Given the description of an element on the screen output the (x, y) to click on. 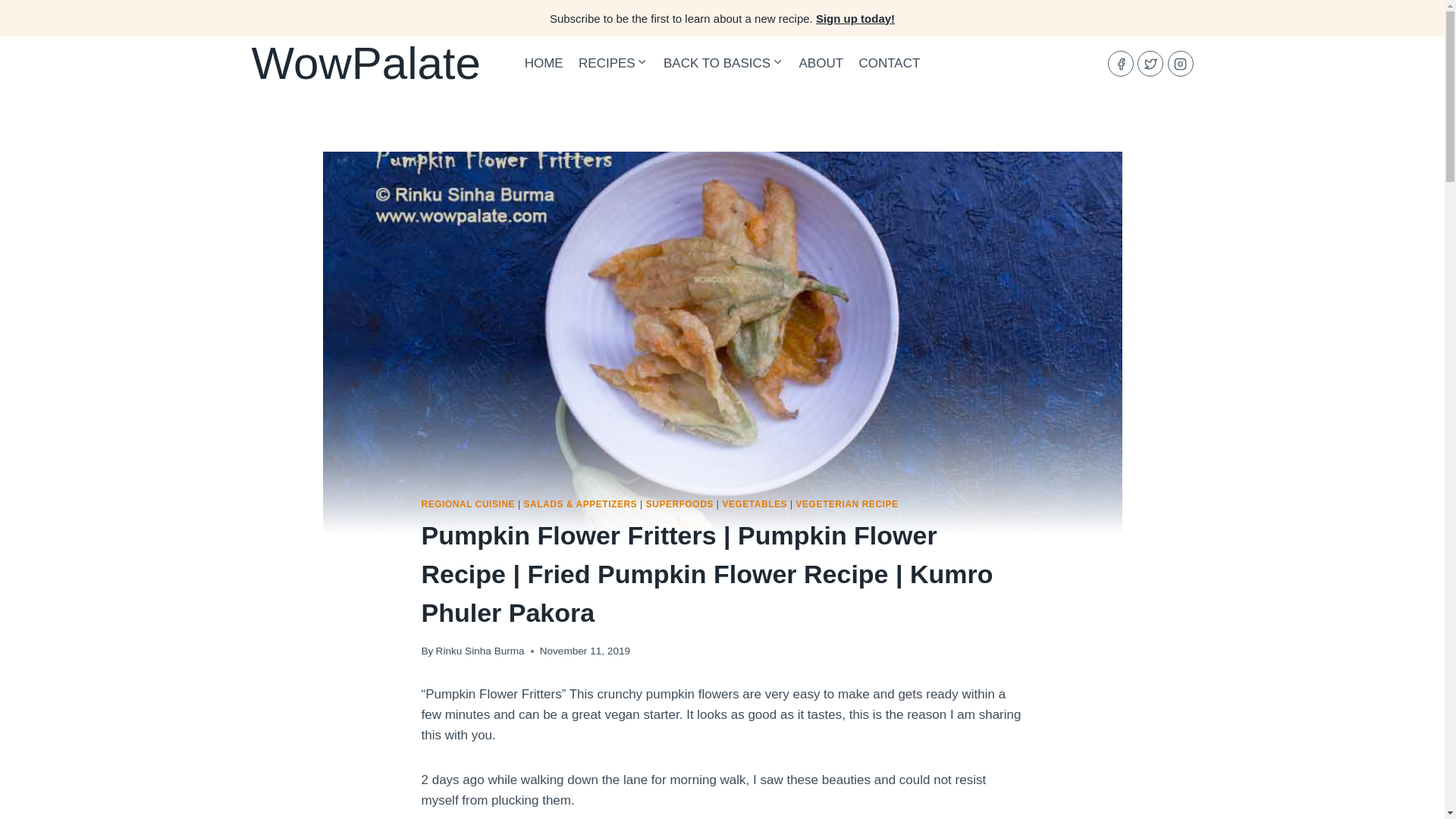
VEGETABLES (754, 503)
ABOUT (820, 63)
BACK TO BASICS (723, 63)
SUPERFOODS (679, 503)
WowPalate (365, 63)
Sign up today! (855, 18)
VEGETERIAN RECIPE (847, 503)
Sign up today! (855, 18)
REGIONAL CUISINE (468, 503)
HOME (543, 63)
Rinku Sinha Burma (479, 650)
RECIPES (613, 63)
CONTACT (888, 63)
